Given the description of an element on the screen output the (x, y) to click on. 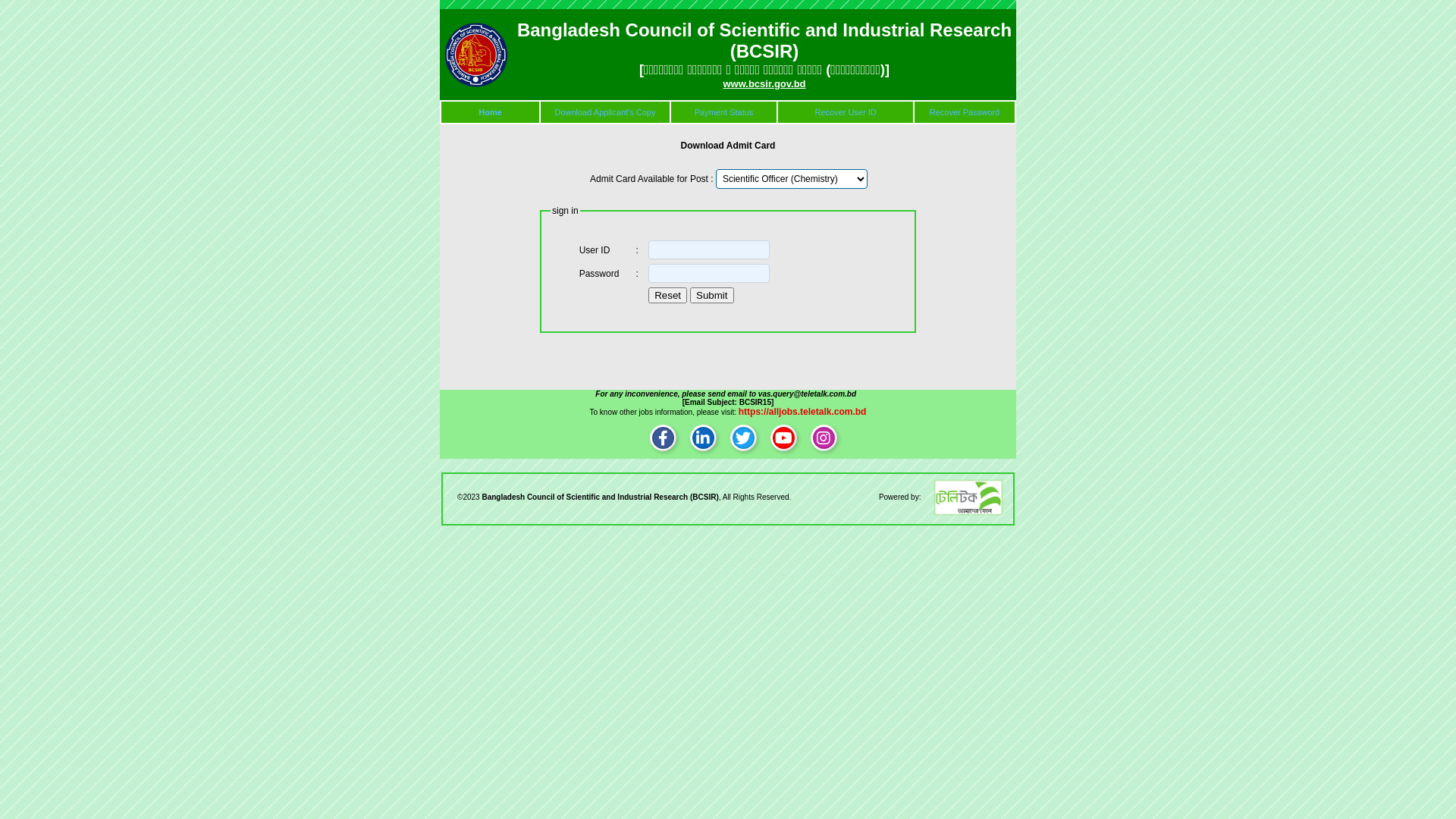
Home Element type: text (490, 111)
https://alljobs.teletalk.com.bd Element type: text (802, 411)
Payment Status Element type: text (723, 111)
Download Applicant's Copy Element type: text (604, 111)
Recover Password Element type: text (964, 111)
Submit Element type: text (711, 295)
Recover User ID Element type: text (844, 111)
www.bcsir.gov.bd Element type: text (763, 83)
